Given the description of an element on the screen output the (x, y) to click on. 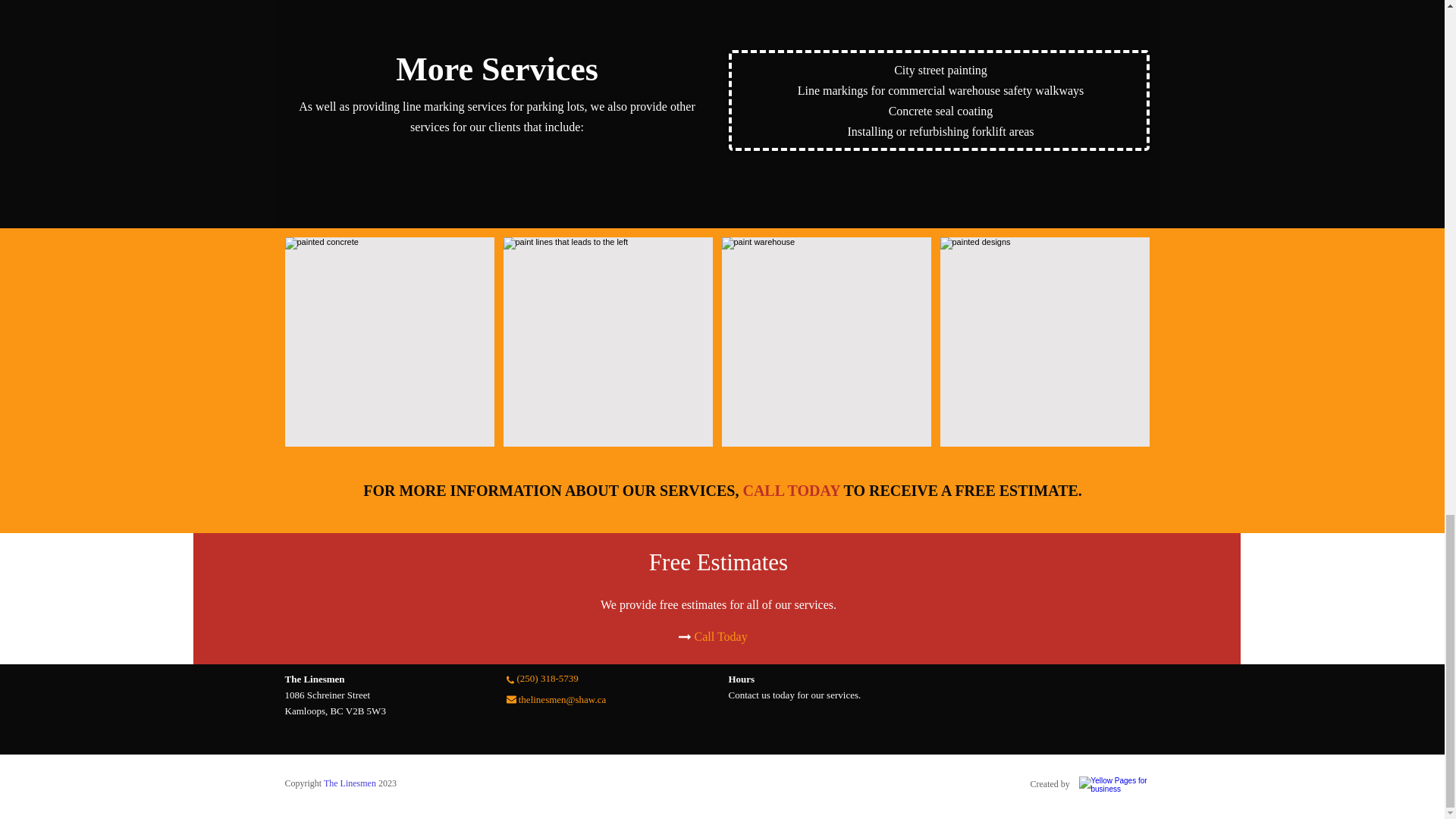
Call Today (721, 637)
The Linesmen (349, 783)
CALL TODAY (791, 492)
